Given the description of an element on the screen output the (x, y) to click on. 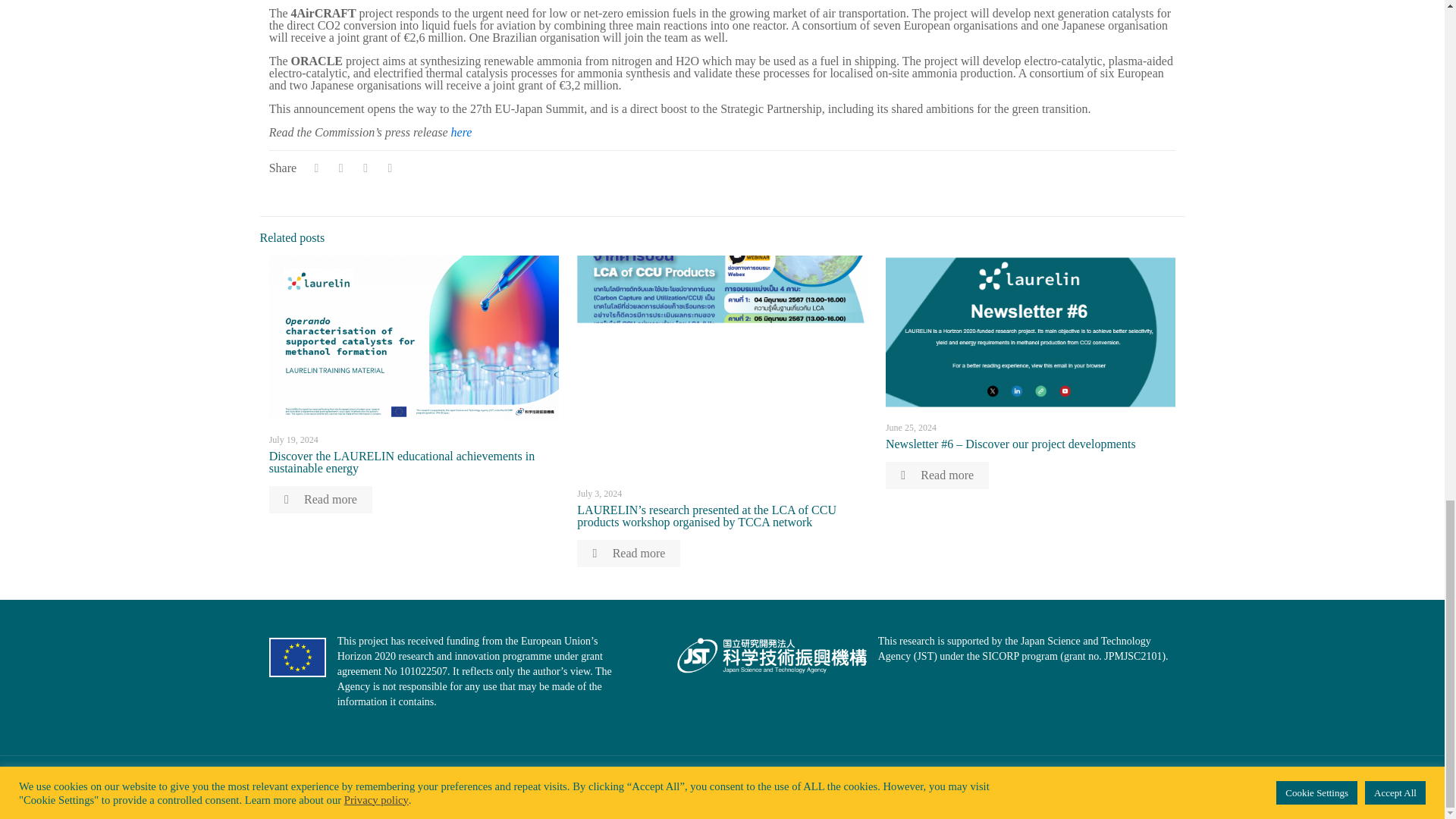
Read more (627, 553)
Read more (320, 499)
here (461, 132)
Twitter (1079, 784)
LinkedIn (1100, 784)
Newsletter (1120, 784)
